Given the description of an element on the screen output the (x, y) to click on. 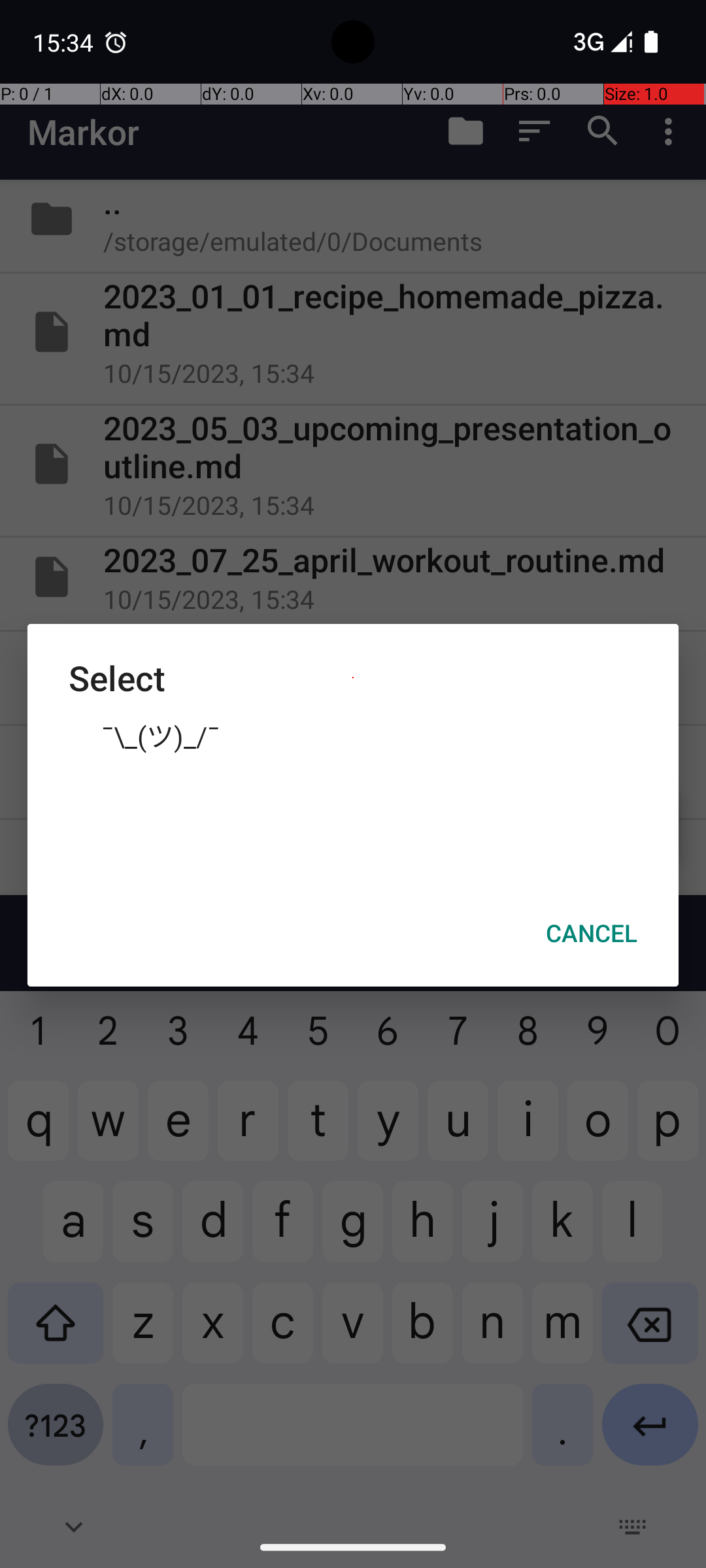
     ¯\_(ツ)_/¯      Element type: android.widget.TextView (352, 734)
